Given the description of an element on the screen output the (x, y) to click on. 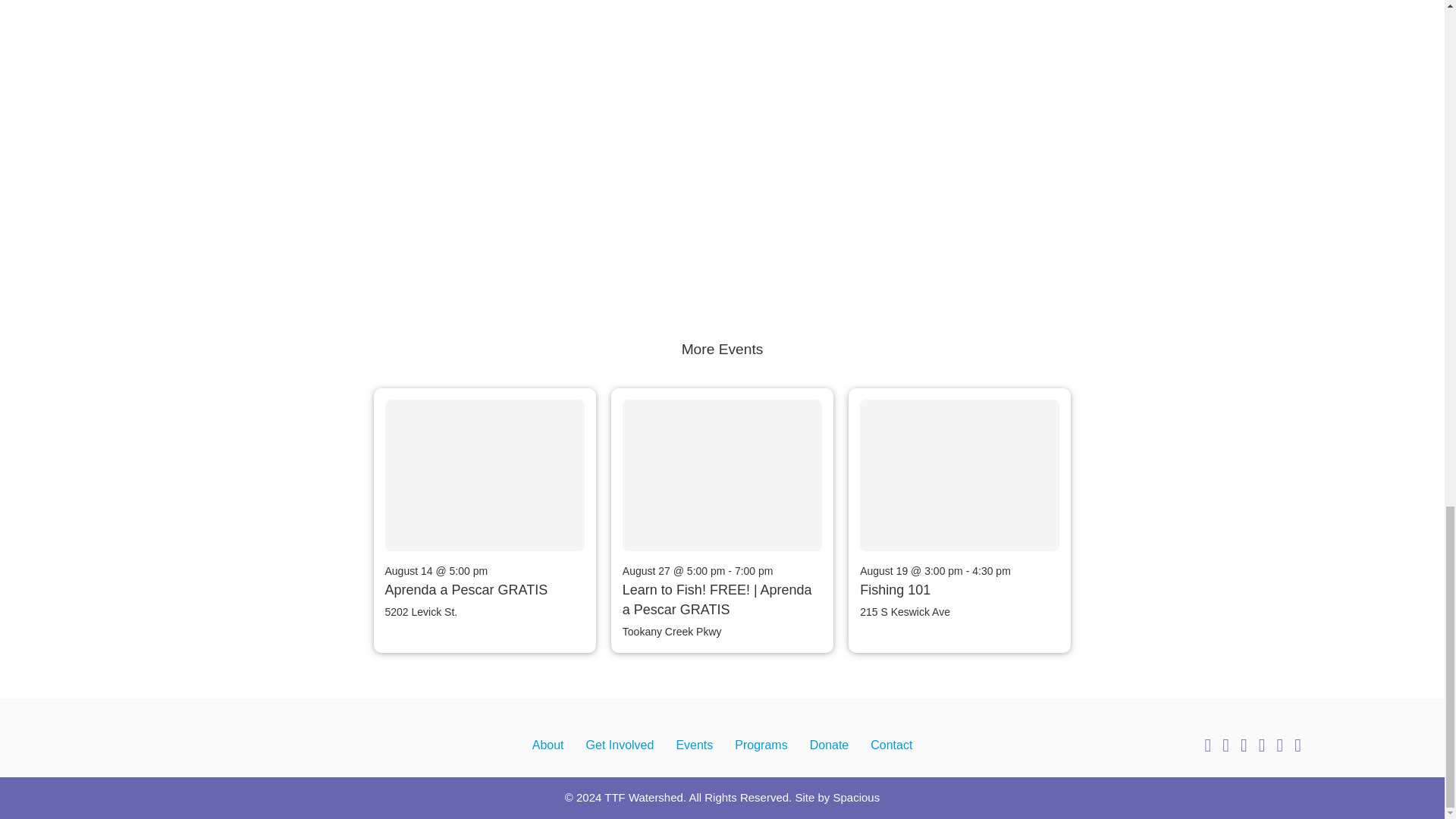
Aprenda a Pescar GRATIS (466, 589)
Aprenda a Pescar GRATIS (461, 473)
